Given the description of an element on the screen output the (x, y) to click on. 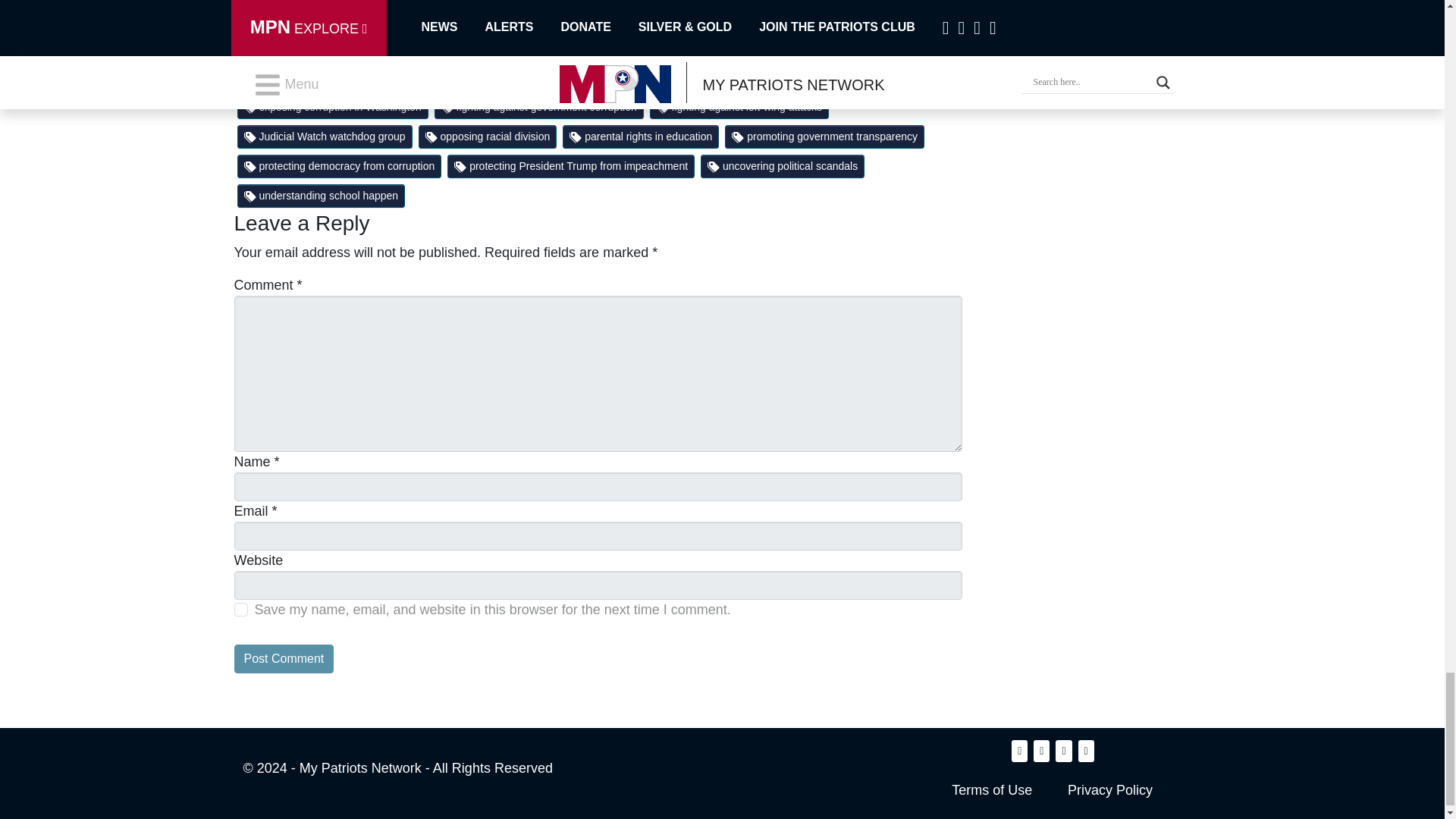
Facebook (289, 14)
Twitter (357, 14)
Post Comment (282, 658)
yes (239, 609)
